Given the description of an element on the screen output the (x, y) to click on. 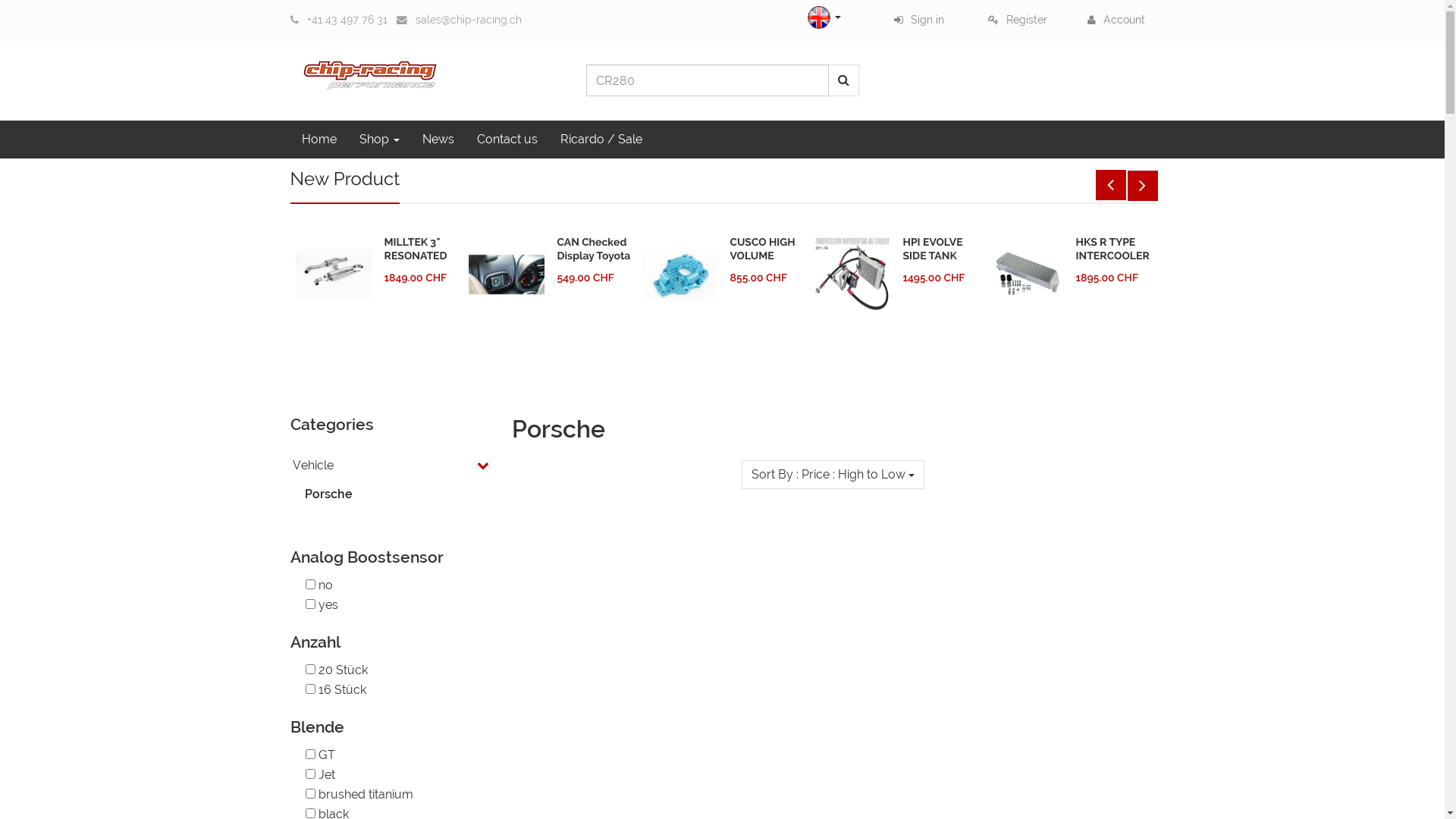
Home Element type: text (318, 139)
Contact us Element type: text (507, 139)
Account Element type: text (1115, 19)
Sort By : Price : High to Low Element type: text (832, 474)
CAN Checked Display Toyota Yaris (XP21) GR Element type: text (593, 262)
Shop Element type: text (378, 139)
Vehicle Element type: text (368, 465)
Porsche Element type: text (376, 494)
English Element type: hover (818, 17)
Register Element type: text (1017, 19)
HKS R TYPE INTERCOOLER KIT - GR YARIS GXPA16 Element type: text (1111, 262)
MILLTEK 3" RESONATED OPF BACK EXHAUST GR YARIS Element type: text (416, 268)
Ricardo / Sale Element type: text (601, 139)
Chip-Racing GmbH Element type: hover (369, 70)
Sign in Element type: text (918, 19)
News Element type: text (438, 139)
